Given the description of an element on the screen output the (x, y) to click on. 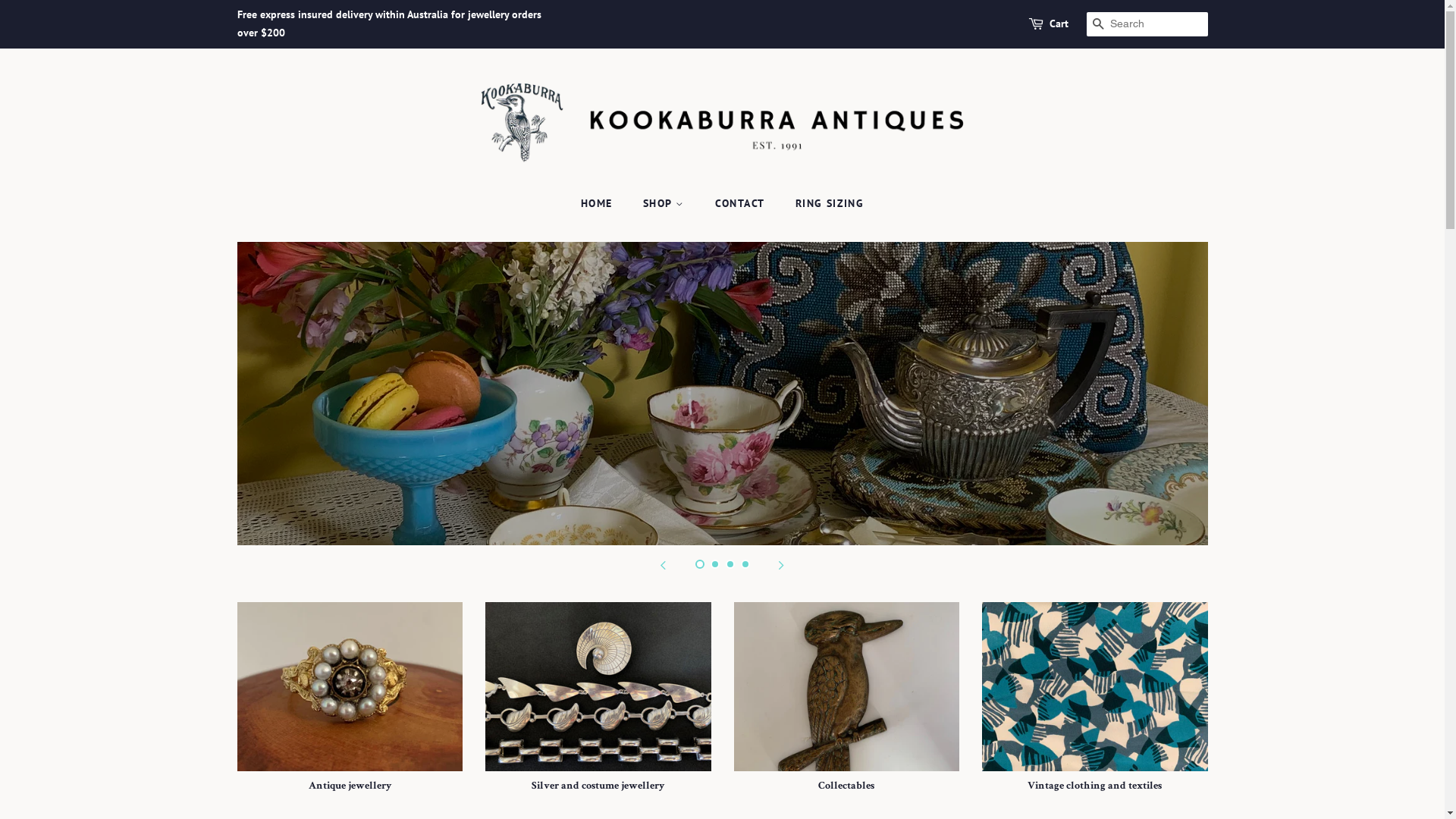
3 Element type: text (729, 563)
4 Element type: text (744, 563)
Cart Element type: text (1058, 24)
HOME Element type: text (603, 203)
SEARCH Element type: text (1097, 24)
SHOP Element type: text (665, 203)
CONTACT Element type: text (741, 203)
2 Element type: text (713, 563)
1 Element type: text (698, 563)
RING SIZING Element type: text (823, 203)
